Given the description of an element on the screen output the (x, y) to click on. 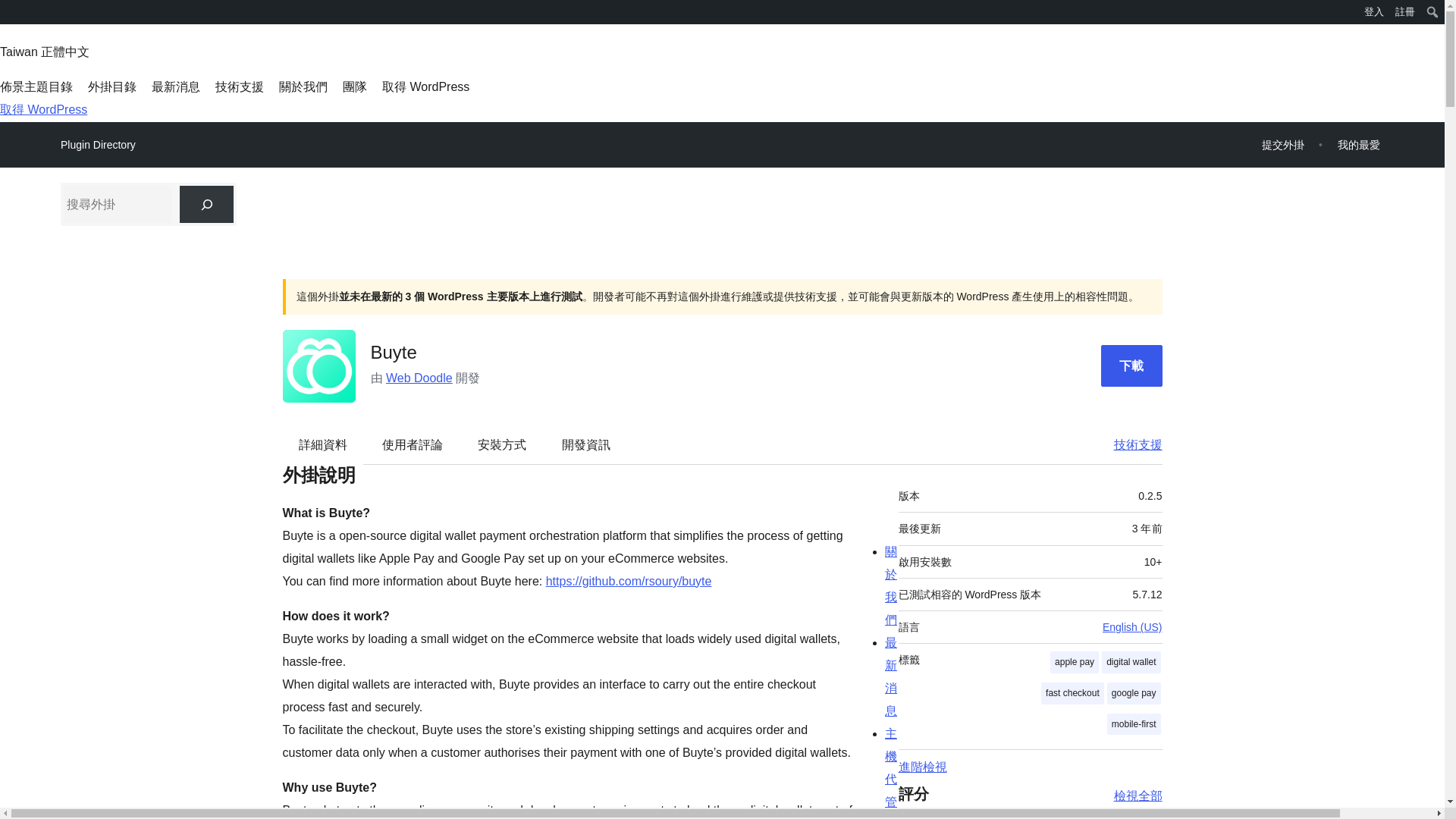
WordPress.org (10, 16)
WordPress.org (10, 10)
Plugin Directory (97, 144)
Web Doodle (418, 377)
